Given the description of an element on the screen output the (x, y) to click on. 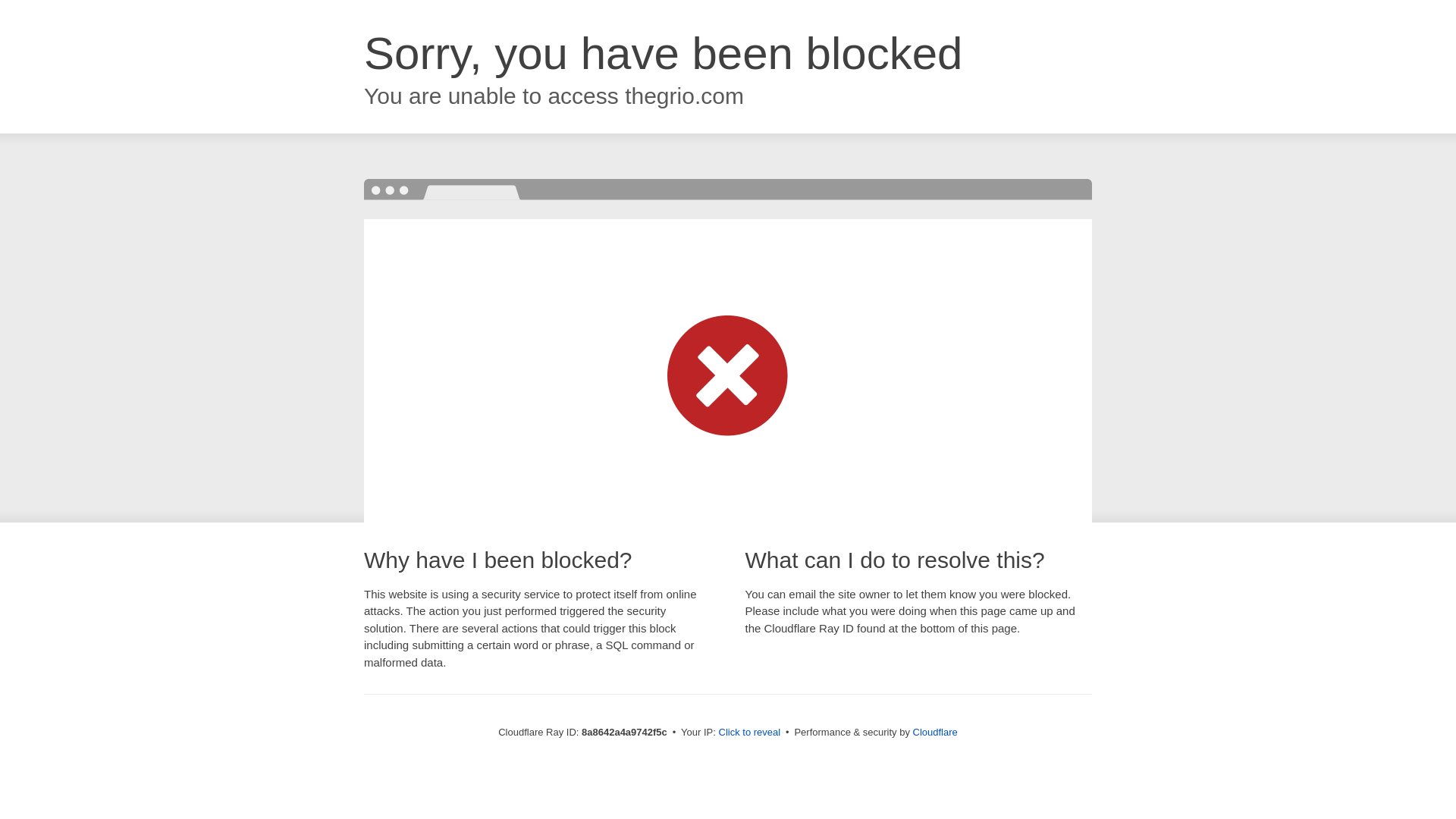
Cloudflare (935, 731)
Click to reveal (749, 732)
